Given the description of an element on the screen output the (x, y) to click on. 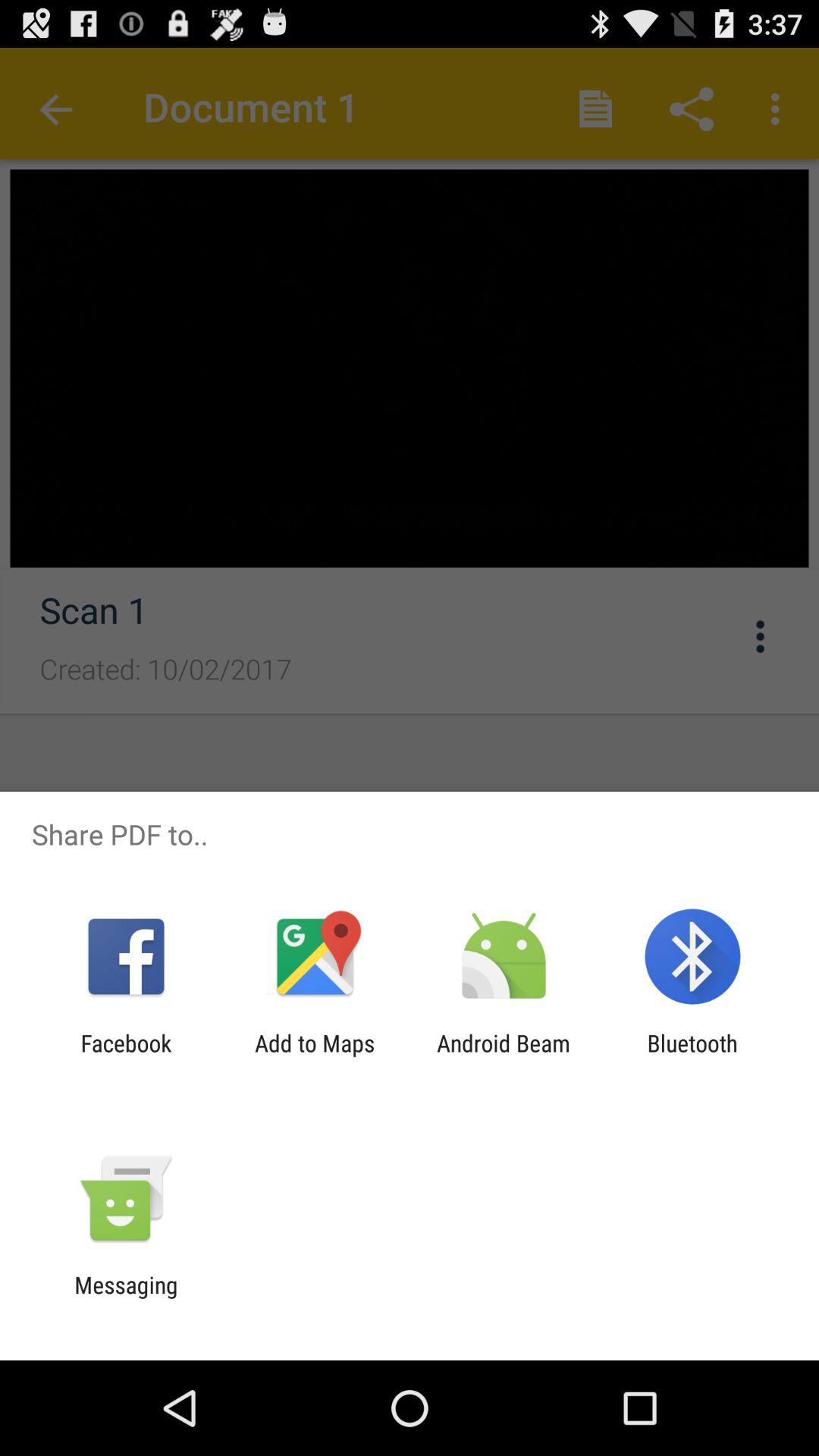
turn off the item next to the add to maps icon (503, 1056)
